Given the description of an element on the screen output the (x, y) to click on. 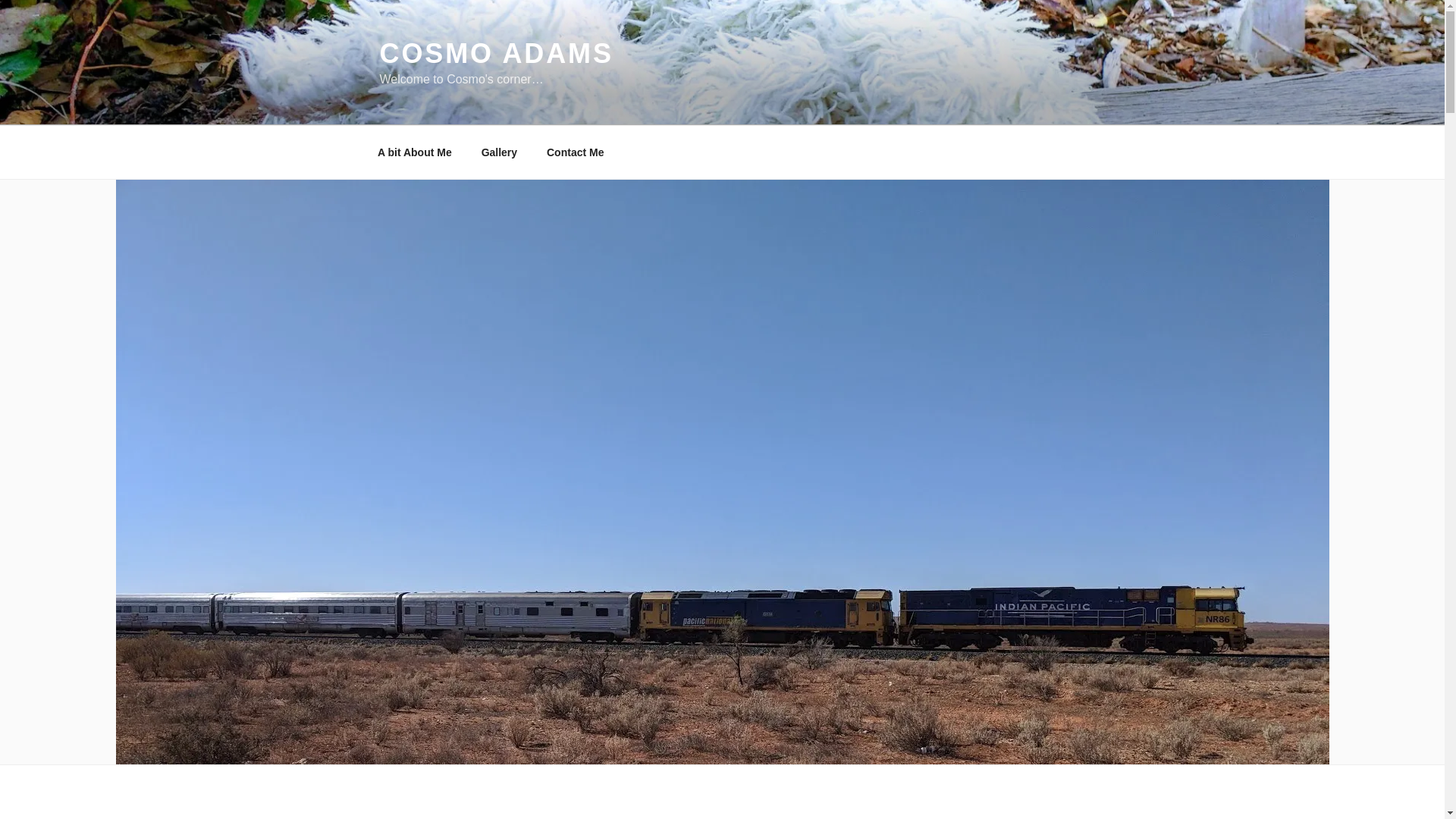
Gallery Element type: text (498, 151)
A bit About Me Element type: text (414, 151)
Contact Me Element type: text (575, 151)
COSMO ADAMS Element type: text (495, 53)
